Given the description of an element on the screen output the (x, y) to click on. 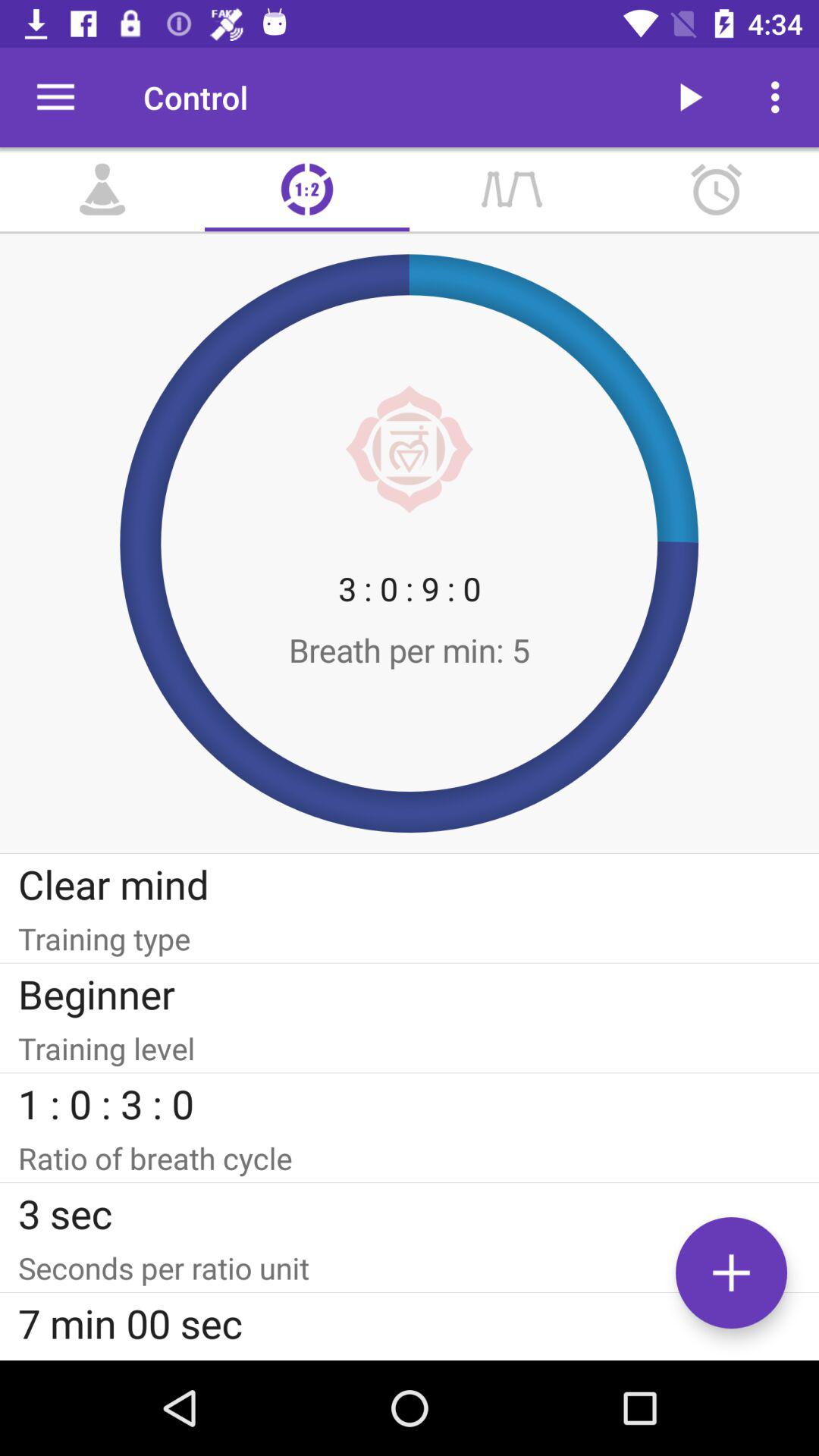
select the total training duration (409, 1356)
